Given the description of an element on the screen output the (x, y) to click on. 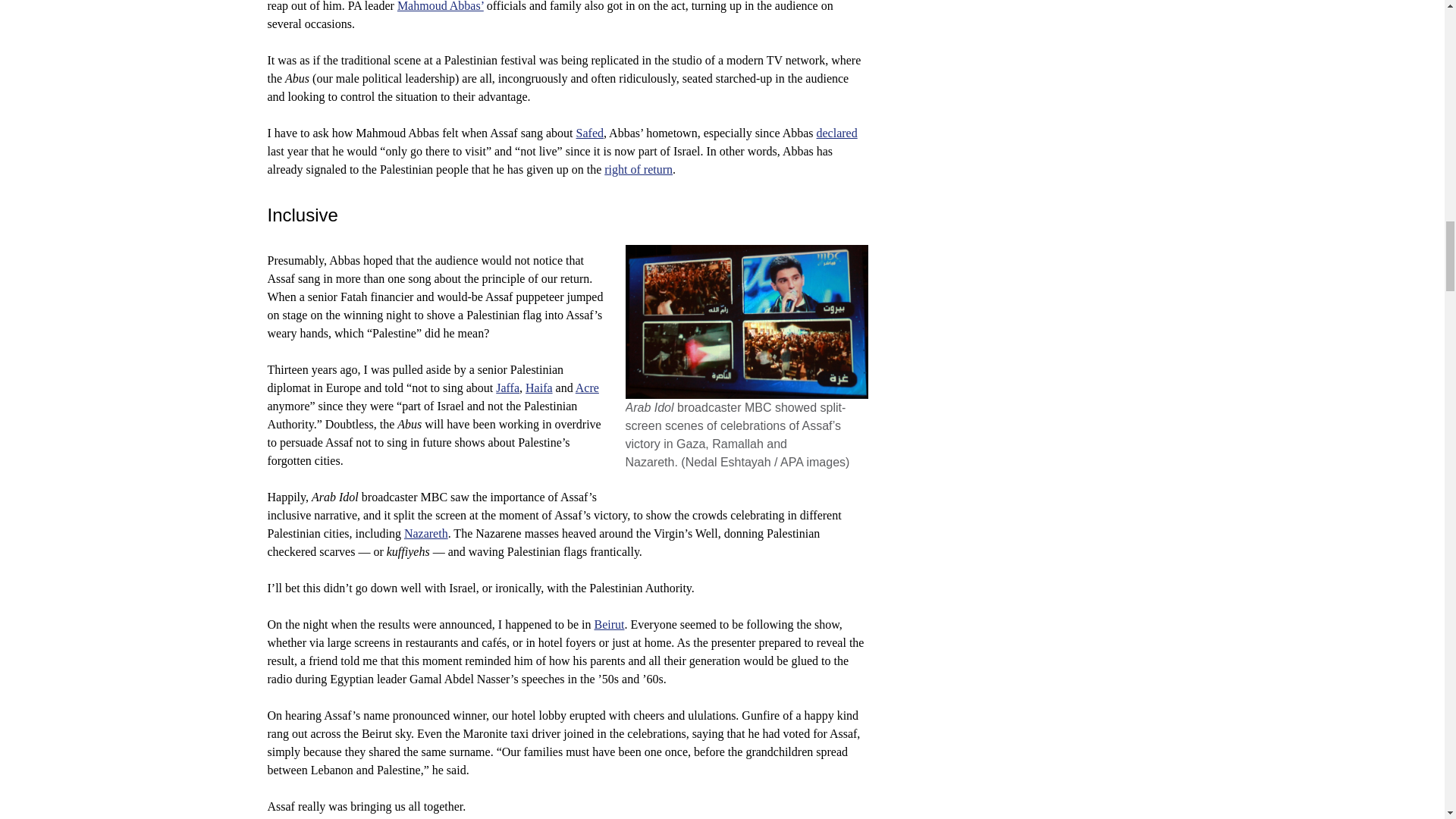
Haifa (539, 387)
declared (836, 132)
Beirut (609, 624)
right of return (638, 169)
Nazareth (426, 533)
Safed (590, 132)
Acre (586, 387)
Jaffa (507, 387)
